Given the description of an element on the screen output the (x, y) to click on. 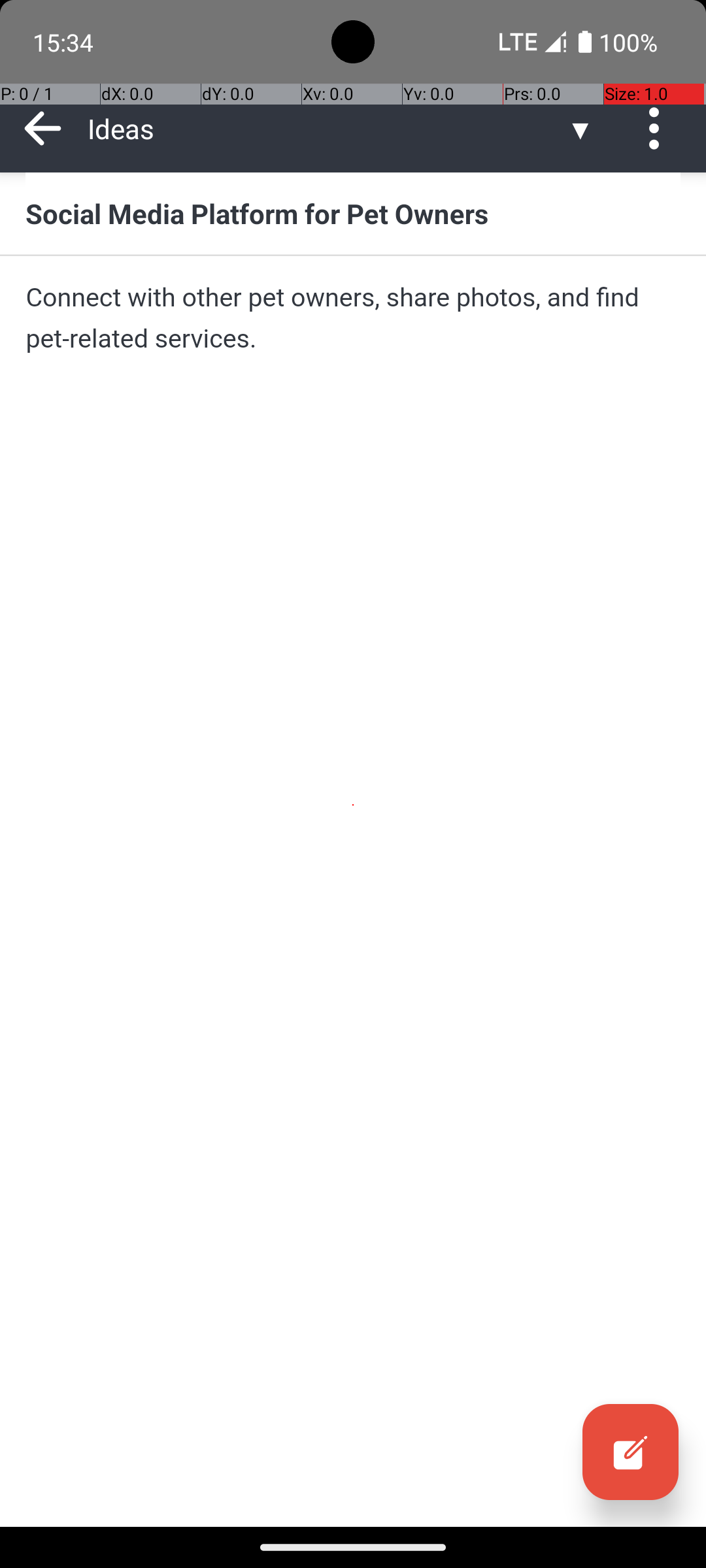
Connect with other pet owners, share photos, and find pet-related services. Element type: android.widget.TextView (352, 317)
